Given the description of an element on the screen output the (x, y) to click on. 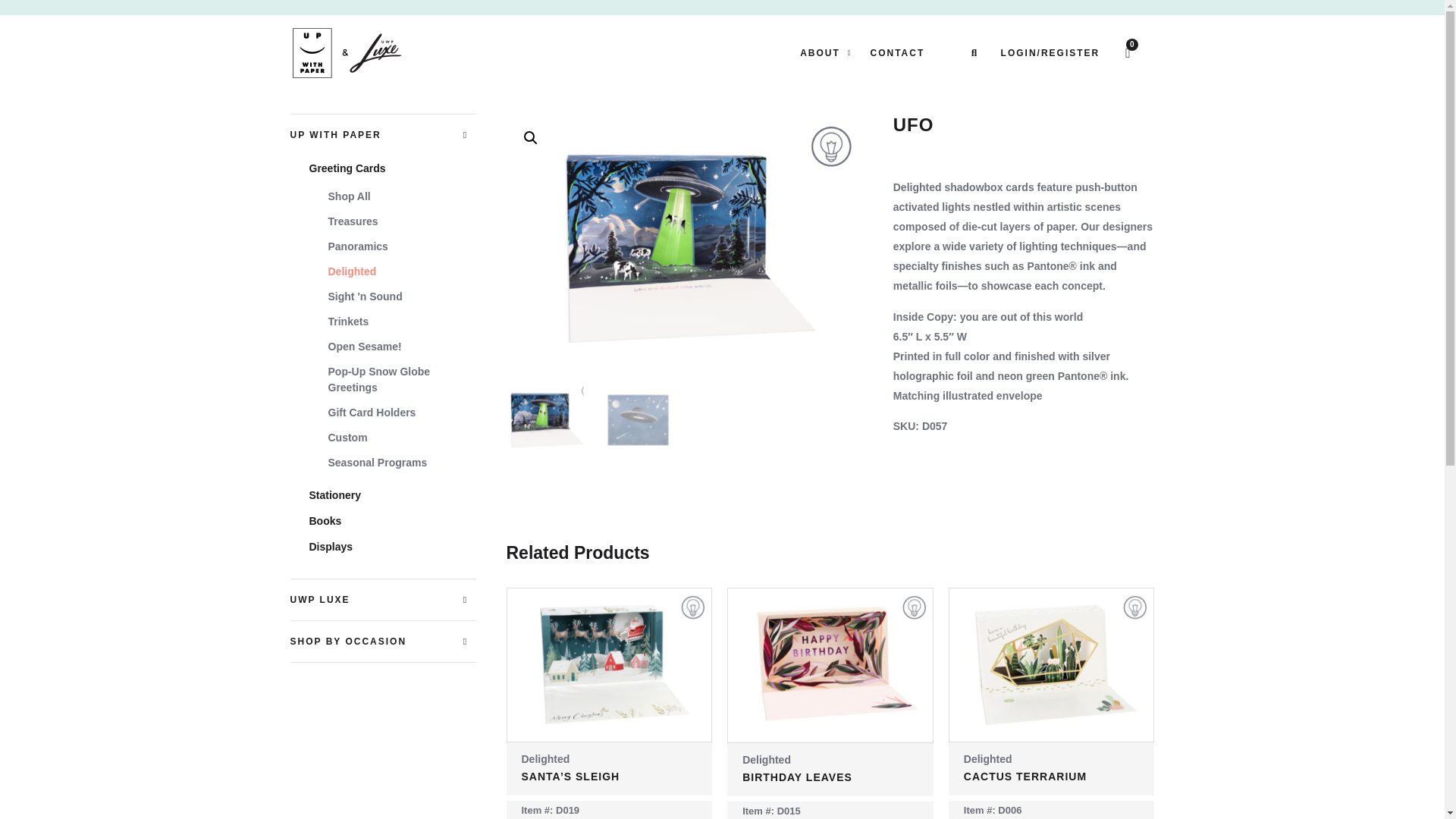
ABOUT (825, 52)
D057S (684, 247)
CONTACT (897, 52)
